Given the description of an element on the screen output the (x, y) to click on. 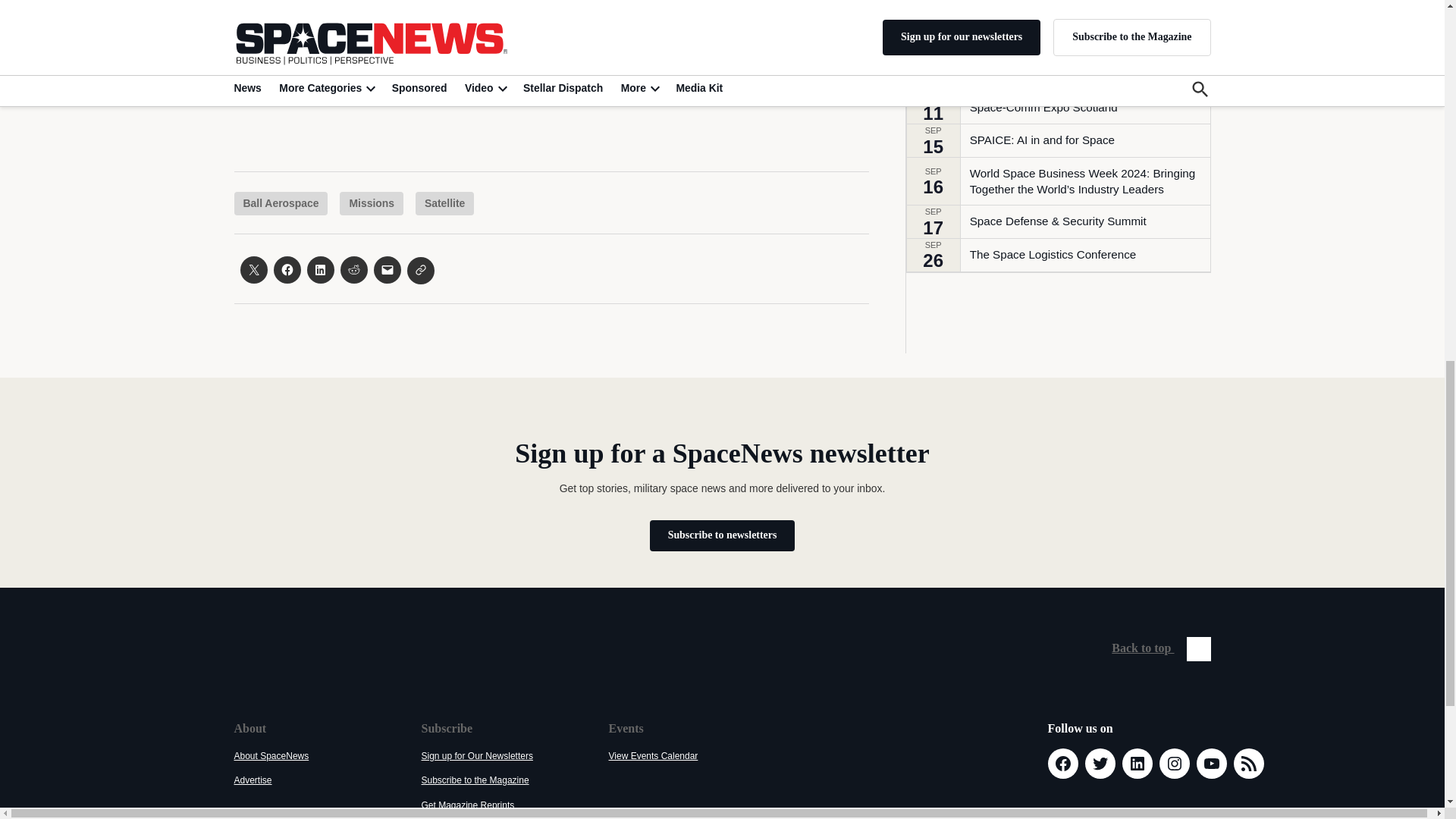
Click to share on Facebook (286, 269)
Click to email a link to a friend (386, 269)
Click to share on LinkedIn (319, 269)
Click to share on Reddit (352, 269)
Click to share on X (253, 269)
